Given the description of an element on the screen output the (x, y) to click on. 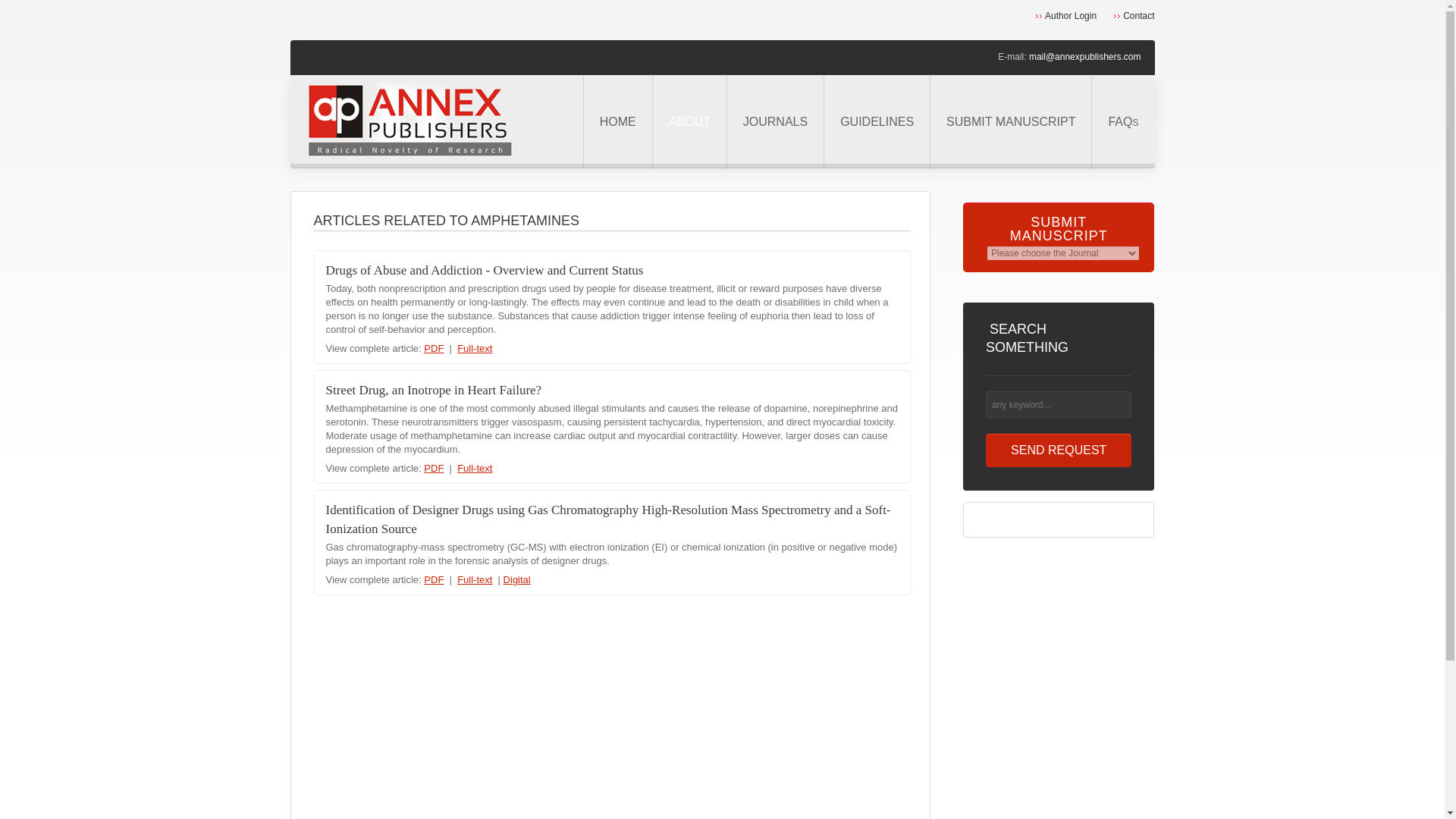
Author Login (1065, 15)
Send Request (1058, 450)
JOURNALS (775, 121)
ABOUT (689, 121)
Contact Us (1133, 15)
About Annex Publishers (689, 121)
Author Login (1065, 15)
HOME (617, 121)
Contact (1133, 15)
List of Journals (775, 121)
